Given the description of an element on the screen output the (x, y) to click on. 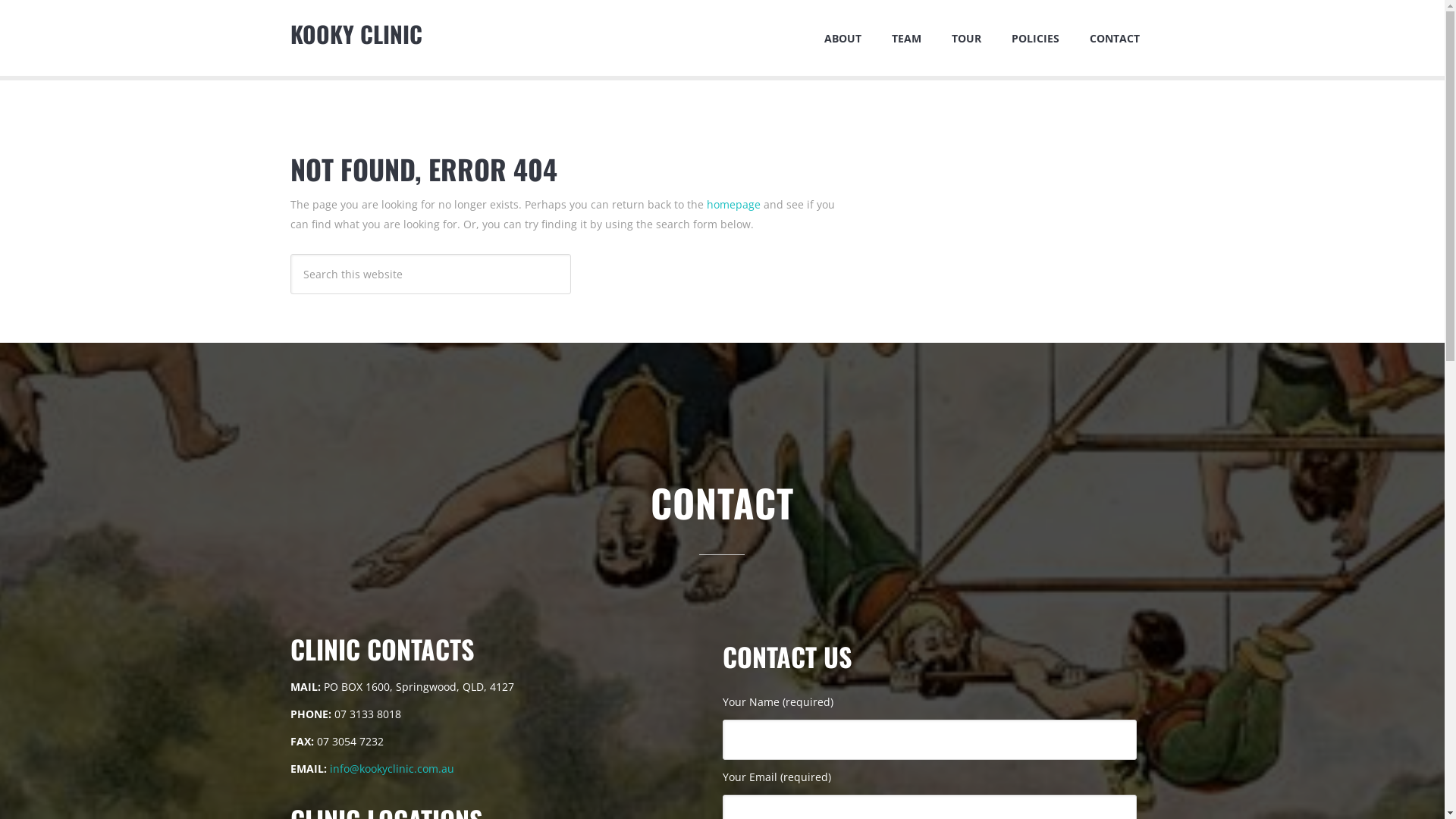
info@kookyclinic.com.au Element type: text (391, 768)
CONTACT Element type: text (1113, 38)
POLICIES Element type: text (1035, 38)
TEAM Element type: text (906, 38)
homepage Element type: text (733, 204)
TOUR Element type: text (965, 38)
ABOUT Element type: text (841, 38)
Search Element type: text (570, 253)
KOOKY CLINIC Element type: text (355, 33)
